Given the description of an element on the screen output the (x, y) to click on. 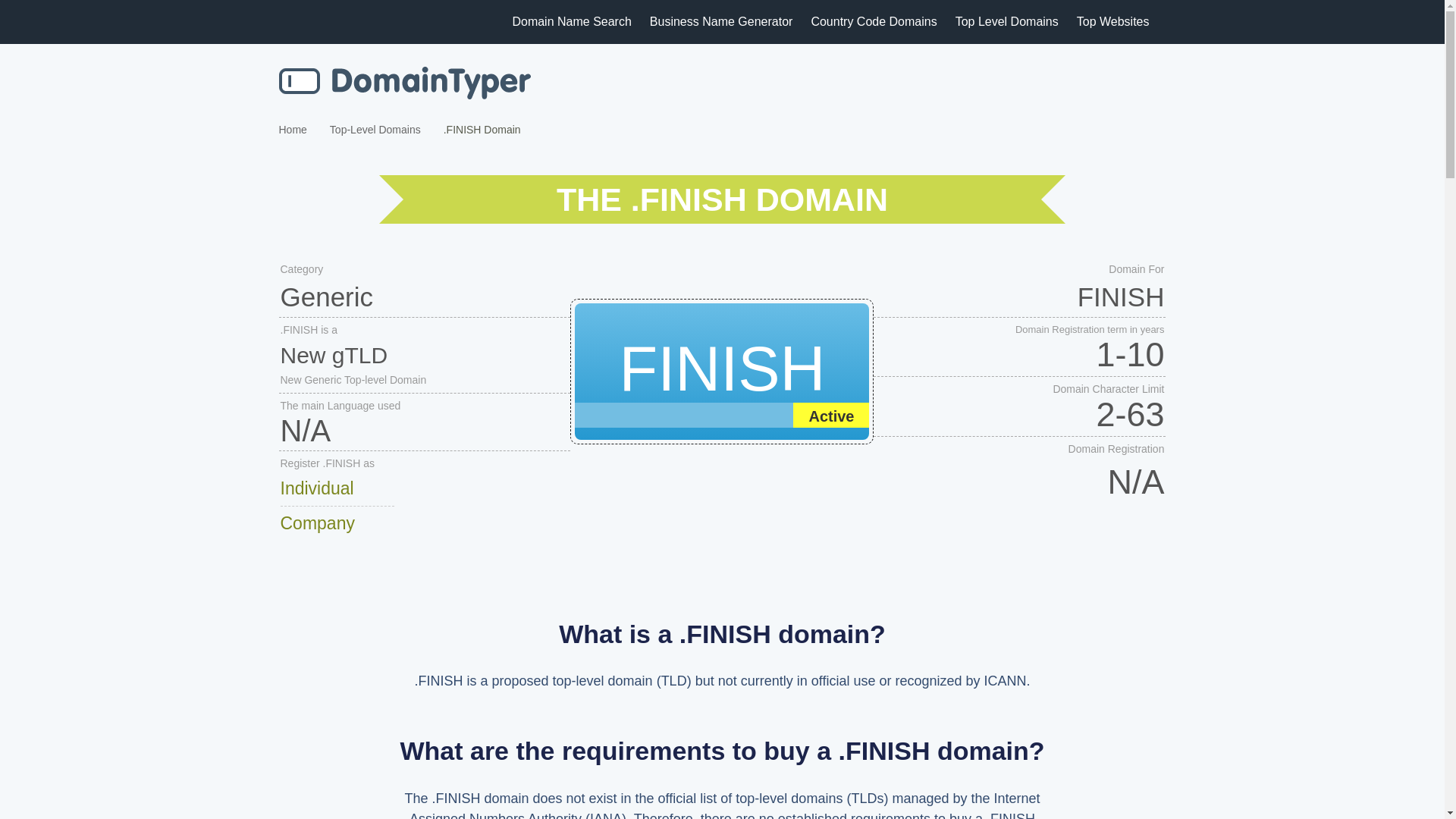
Top Websites (1112, 21)
Top-Level Domains (375, 129)
Home (293, 129)
Domain Name Search (571, 21)
Top Level Domains (1006, 21)
Business Name Generator (721, 21)
Generic (425, 297)
Country Code Domains (873, 21)
